Given the description of an element on the screen output the (x, y) to click on. 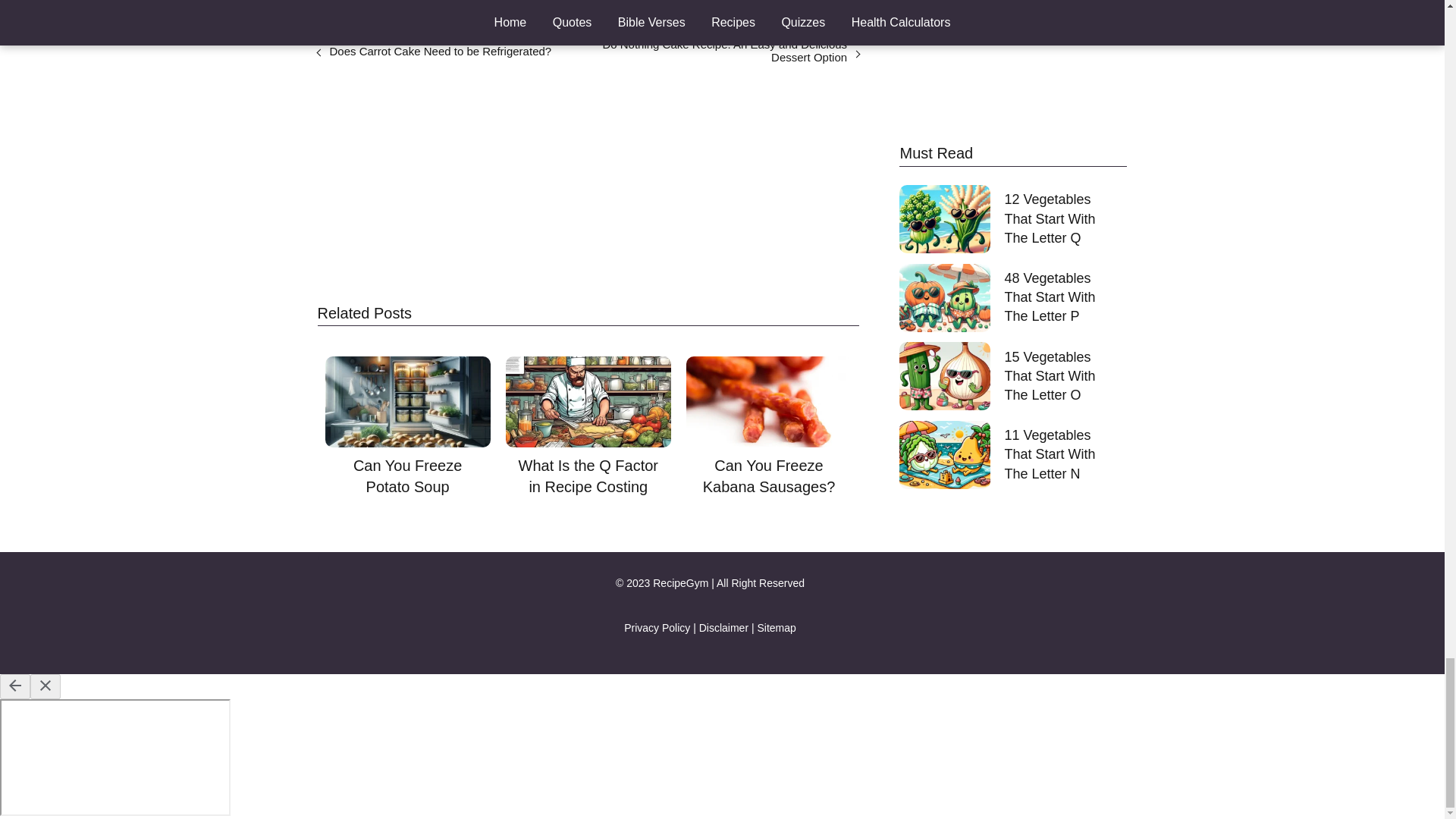
Can You Freeze Potato Soup (407, 426)
Disclaimer (723, 627)
Sitemap (775, 627)
Do Nothing Cake Recipe: An Easy and Delicious Dessert Option (723, 50)
Privacy Policy (657, 627)
Can You Freeze Kabana Sausages? (768, 426)
What Is the Q Factor in Recipe Costing (588, 426)
Does Carrot Cake Need to be Refrigerated? (440, 51)
